Given the description of an element on the screen output the (x, y) to click on. 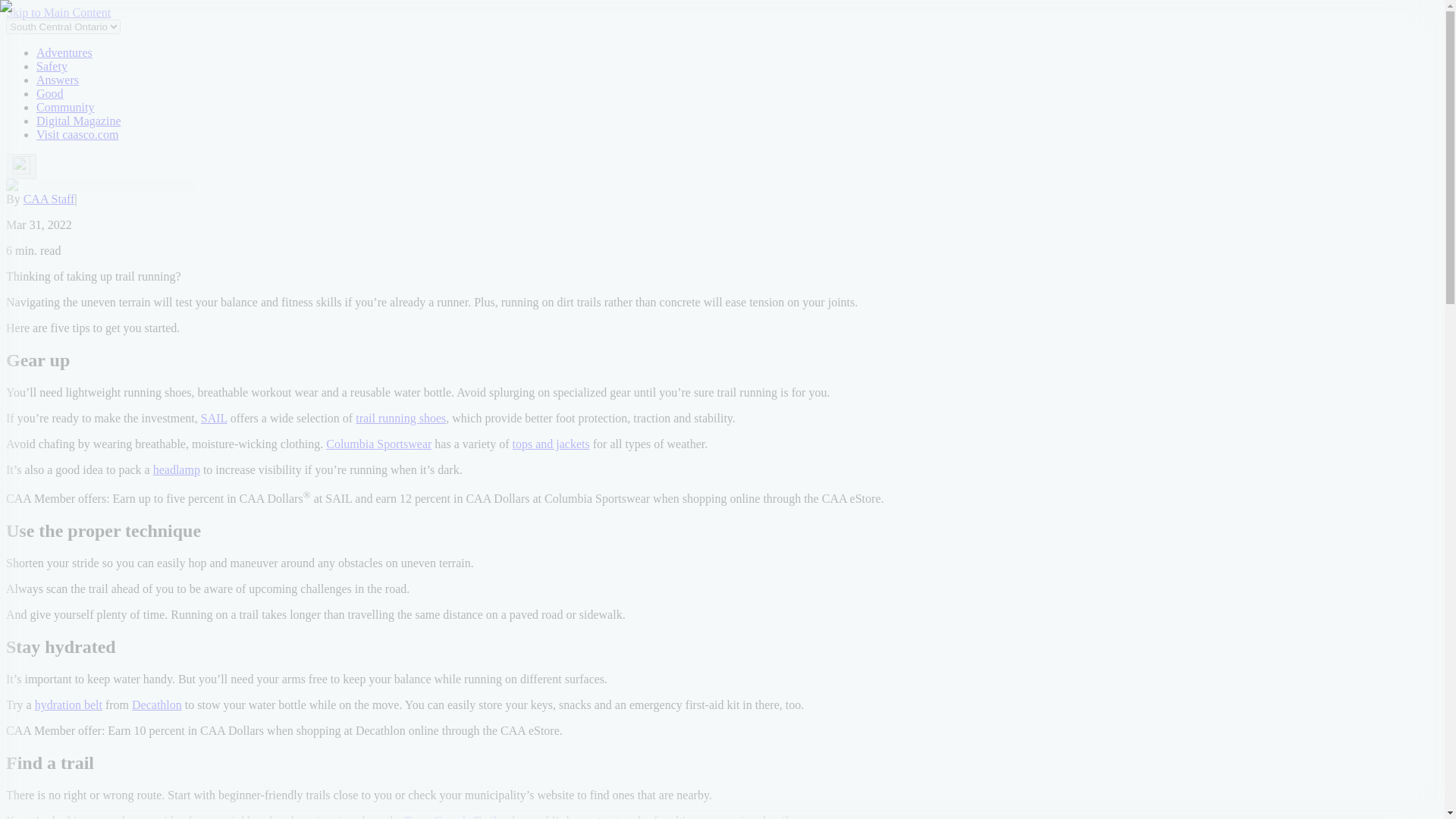
Community (65, 106)
headlamp (176, 469)
CAA Staff (49, 198)
Decathlon (157, 704)
Visit caasco.com (76, 133)
Answers (57, 79)
SAIL (213, 418)
trail running shoes (400, 418)
tops and jackets (550, 443)
Safety (51, 65)
